Given the description of an element on the screen output the (x, y) to click on. 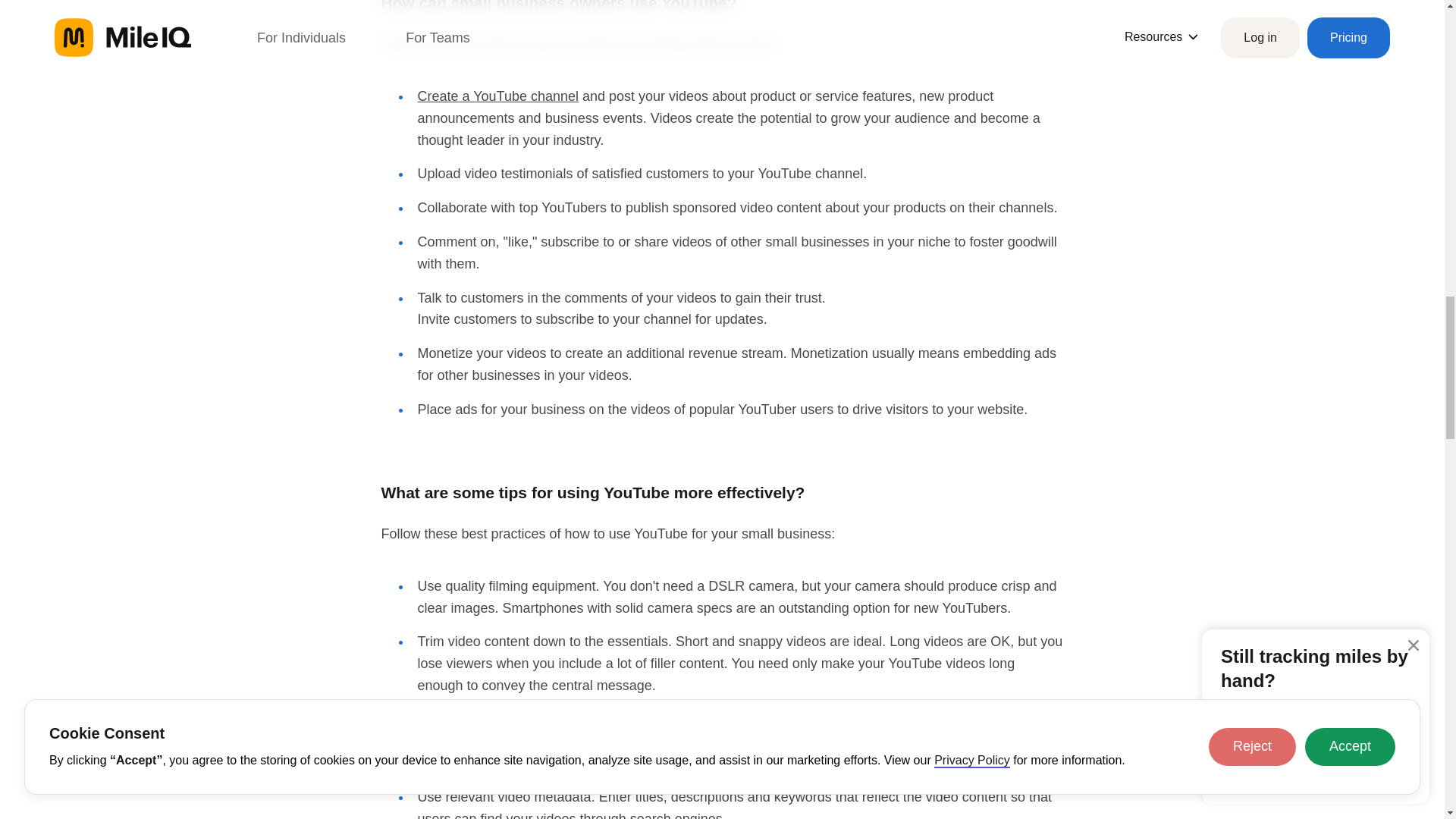
Create a YouTube channel (497, 96)
